Given the description of an element on the screen output the (x, y) to click on. 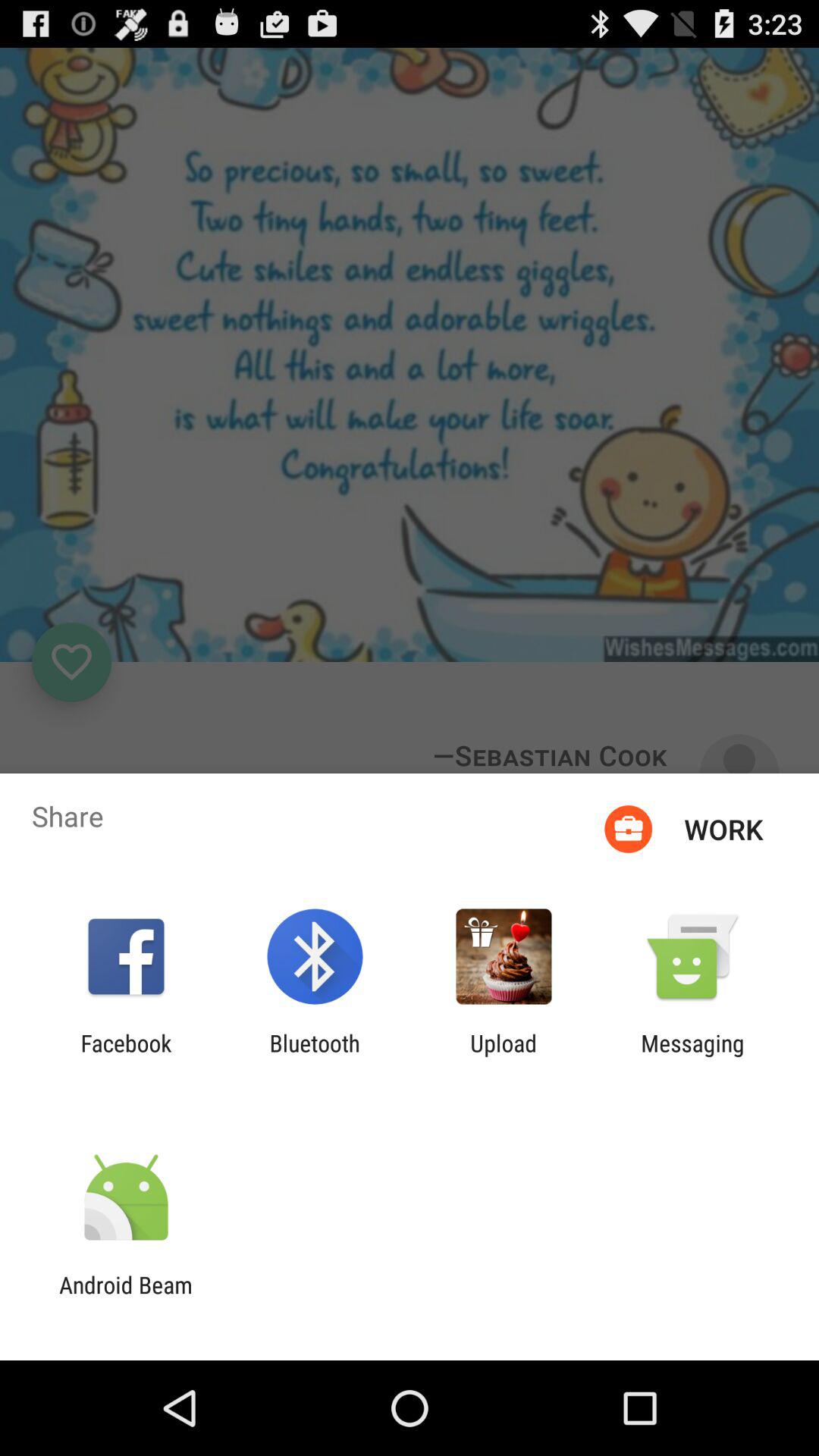
select app to the left of the upload icon (314, 1056)
